Given the description of an element on the screen output the (x, y) to click on. 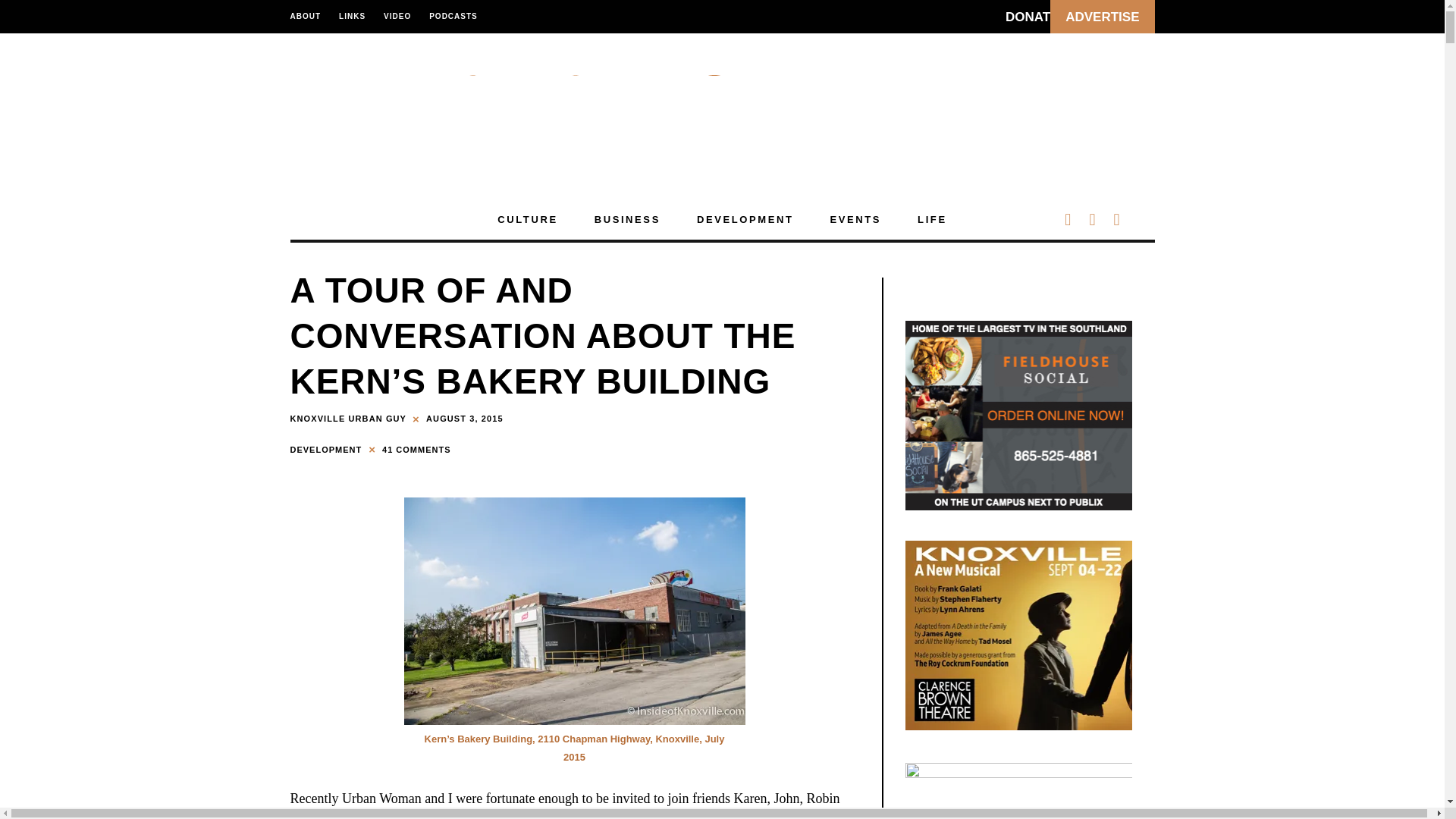
ADVERTISE (1101, 16)
DONATE (1032, 16)
DEVELOPMENT (327, 449)
LINKS (352, 16)
LIFE (932, 219)
VIDEO (397, 16)
CULTURE (527, 219)
KNOXVILLE URBAN GUY (347, 418)
EVENTS (854, 219)
ABOUT (309, 16)
